Given the description of an element on the screen output the (x, y) to click on. 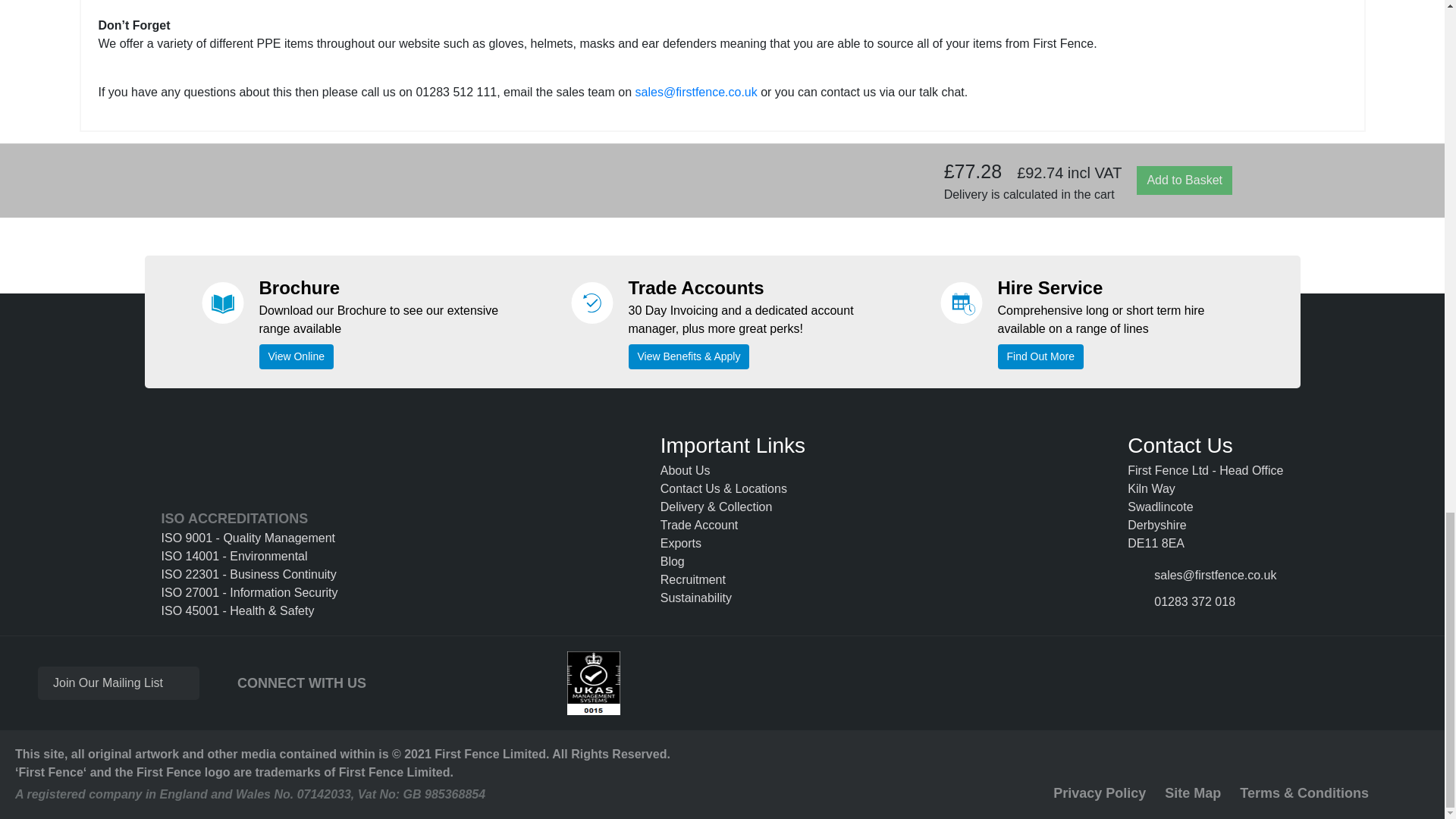
Find Out More (1040, 356)
ISO 22301 - Business Continuity (249, 574)
ISO 27001 - Information Security (249, 592)
ISO 9001 - Quality Management (249, 538)
View Online (296, 356)
ISO 14001 - Environmental (249, 556)
